Given the description of an element on the screen output the (x, y) to click on. 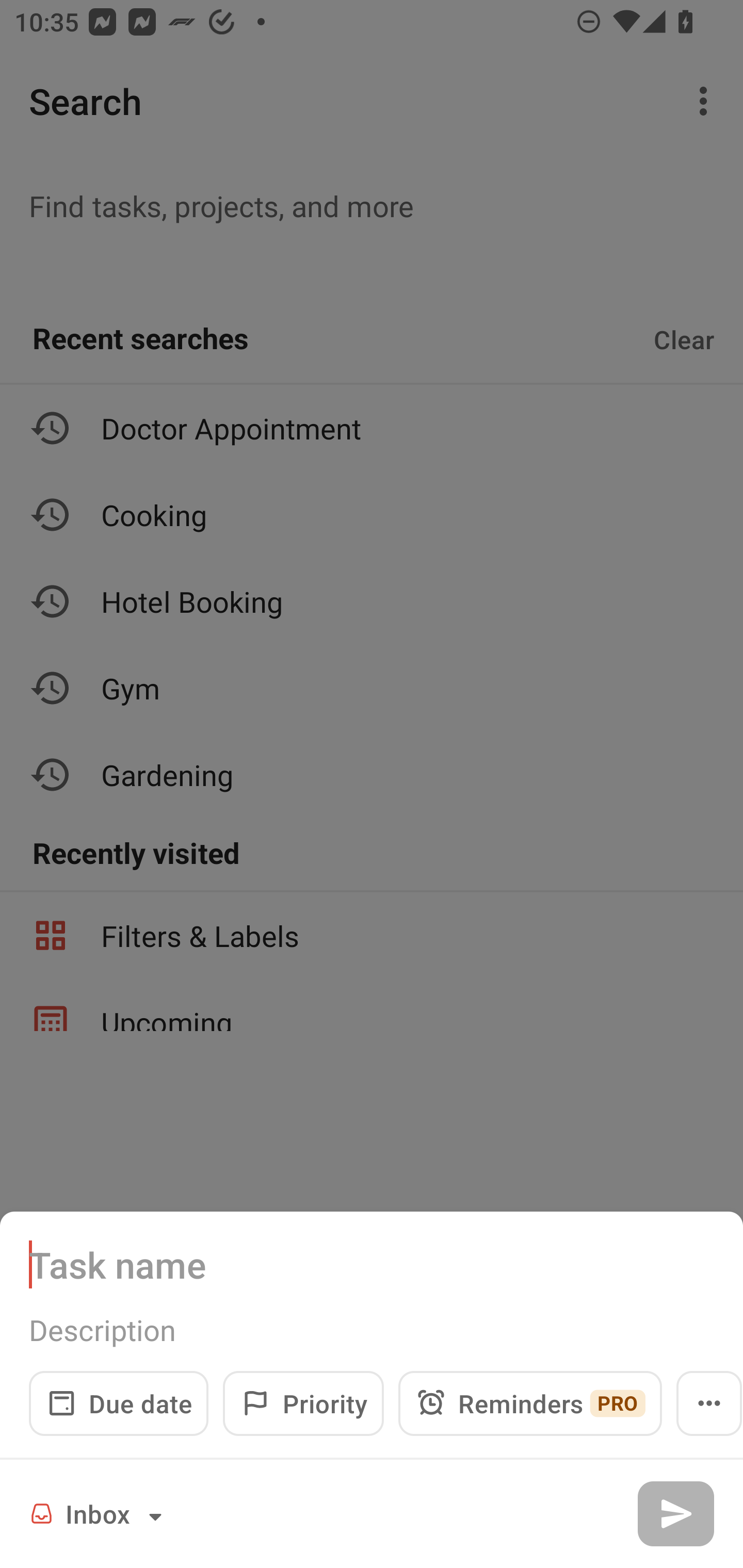
Task name (371, 1264)
Description (371, 1330)
Due date Date (118, 1403)
Priority (303, 1403)
Reminders PRO Reminders (530, 1403)
Open menu (709, 1403)
Inbox Project (99, 1513)
Add (675, 1513)
